Given the description of an element on the screen output the (x, y) to click on. 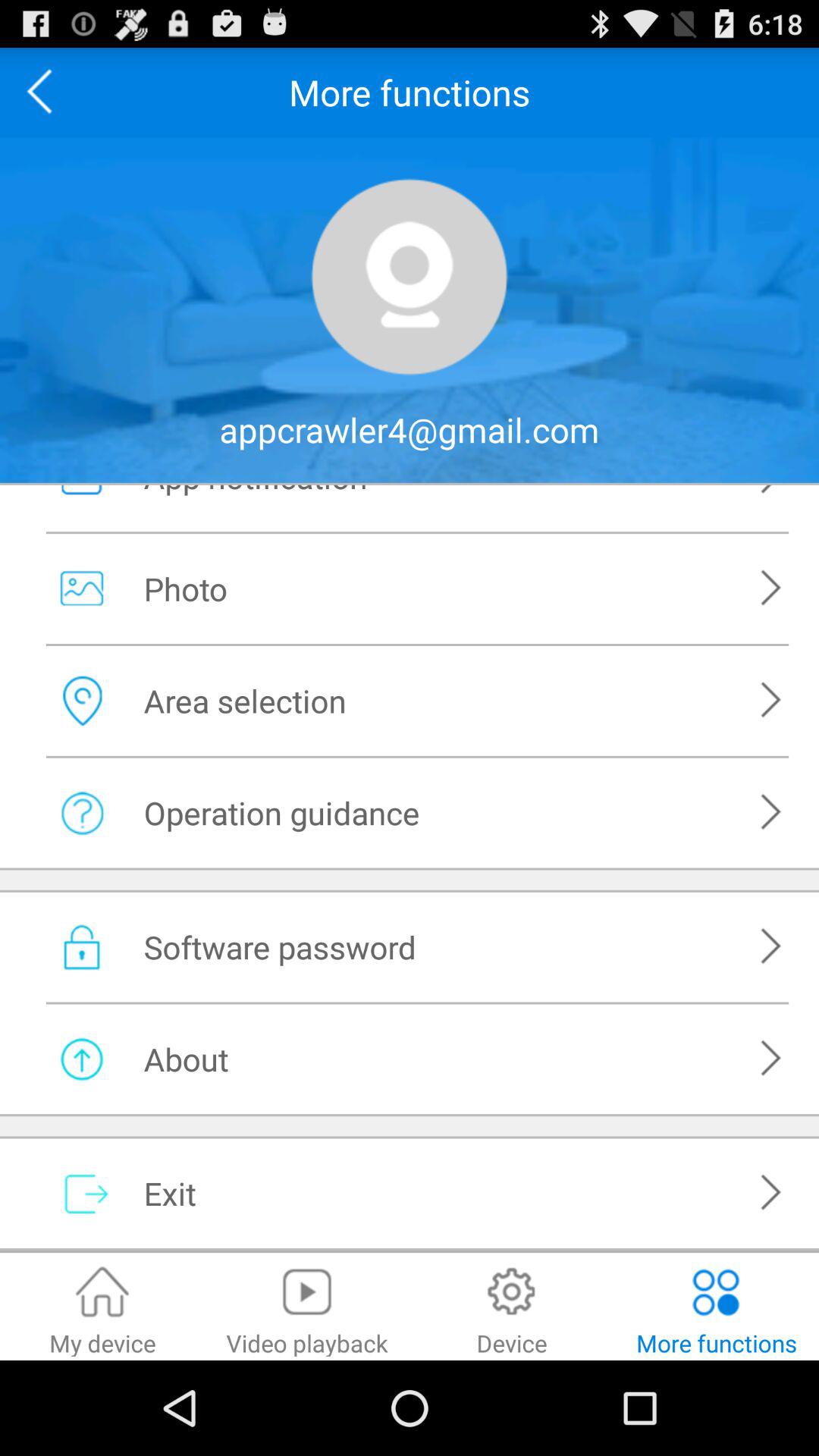
go to previous (44, 92)
